Given the description of an element on the screen output the (x, y) to click on. 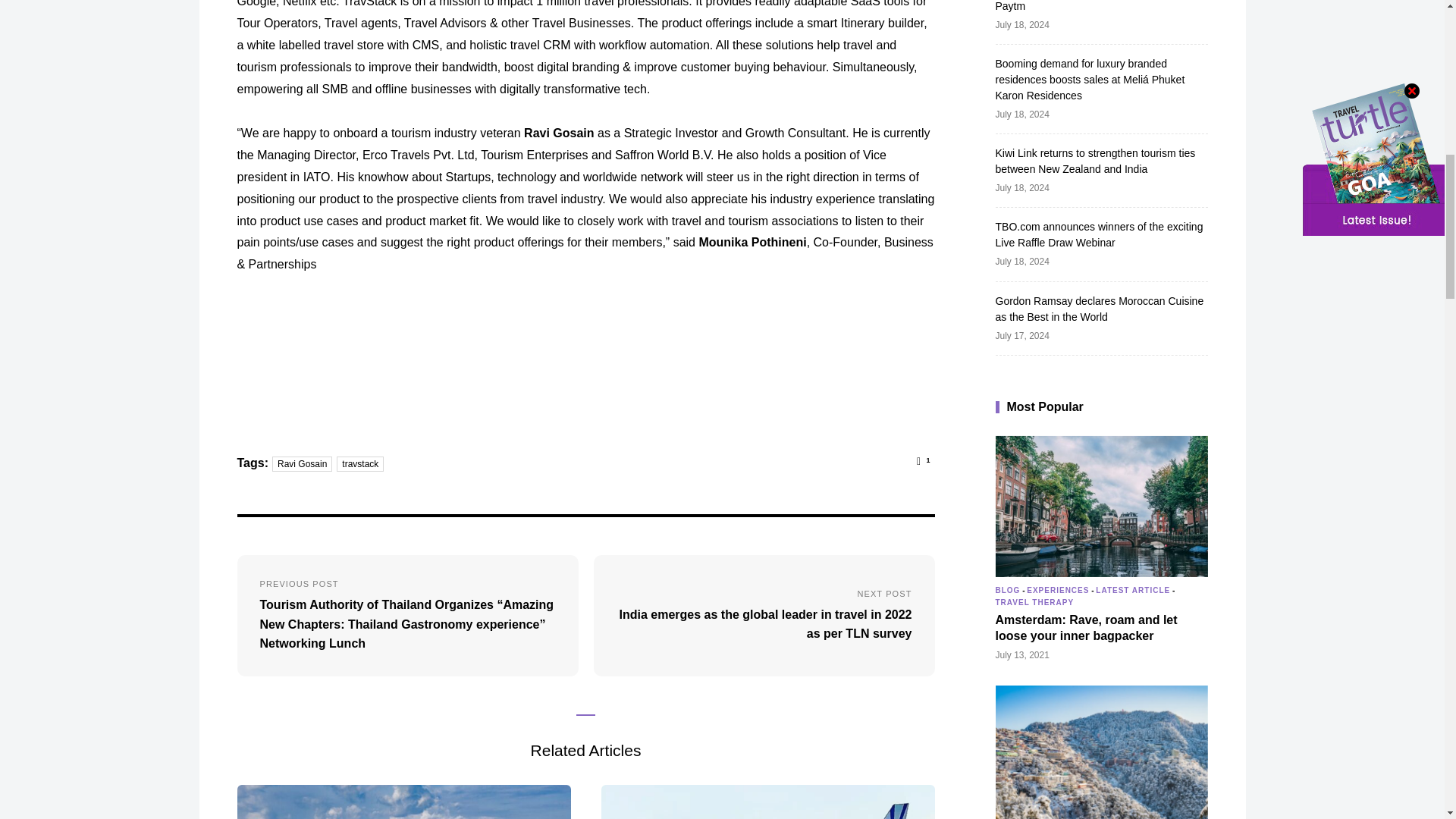
travstack (360, 463)
Ravi Gosain (301, 463)
